Given the description of an element on the screen output the (x, y) to click on. 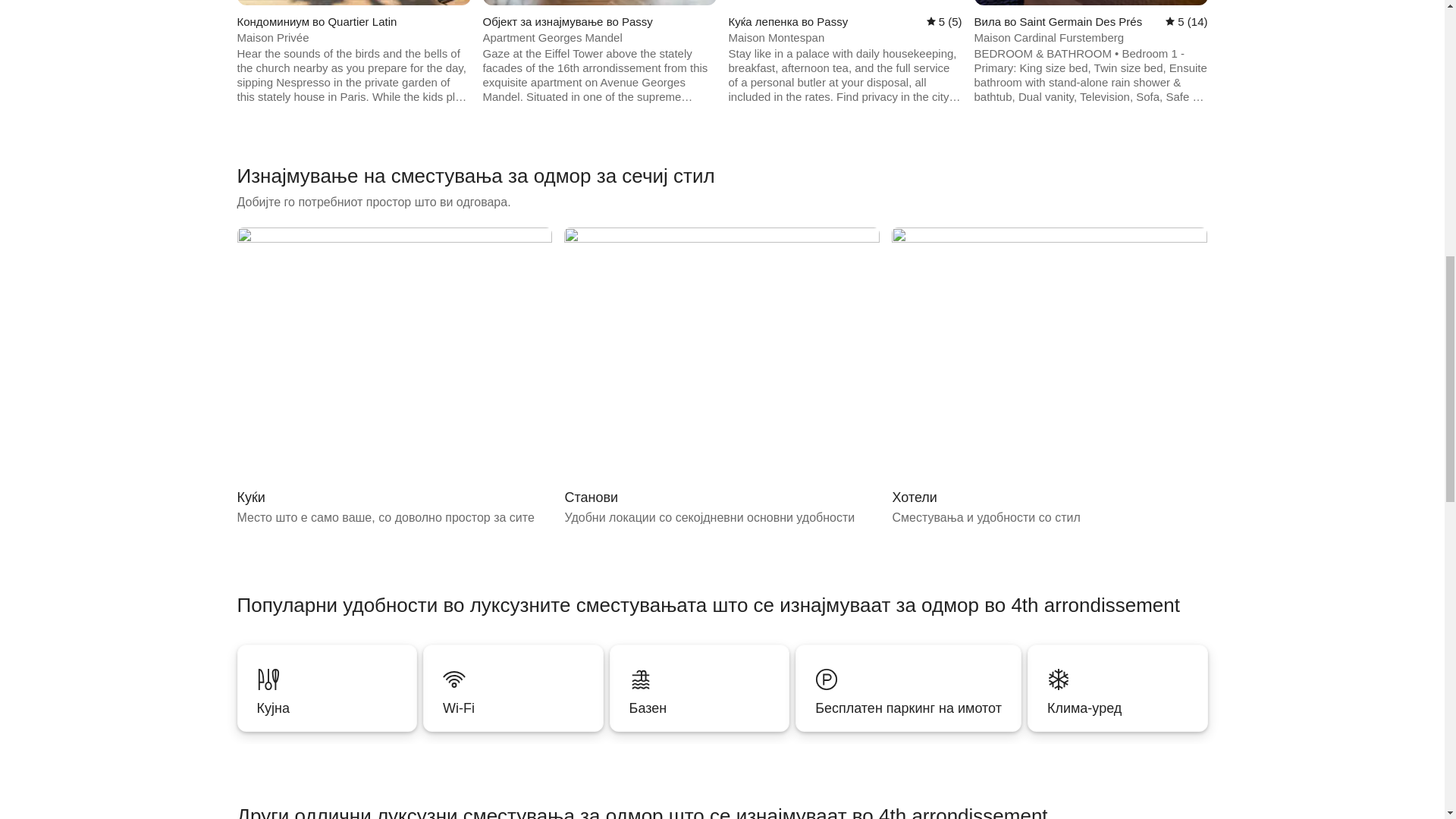
Wi-Fi (513, 688)
Wi-Fi (513, 688)
Wi-Fi (512, 708)
